Given the description of an element on the screen output the (x, y) to click on. 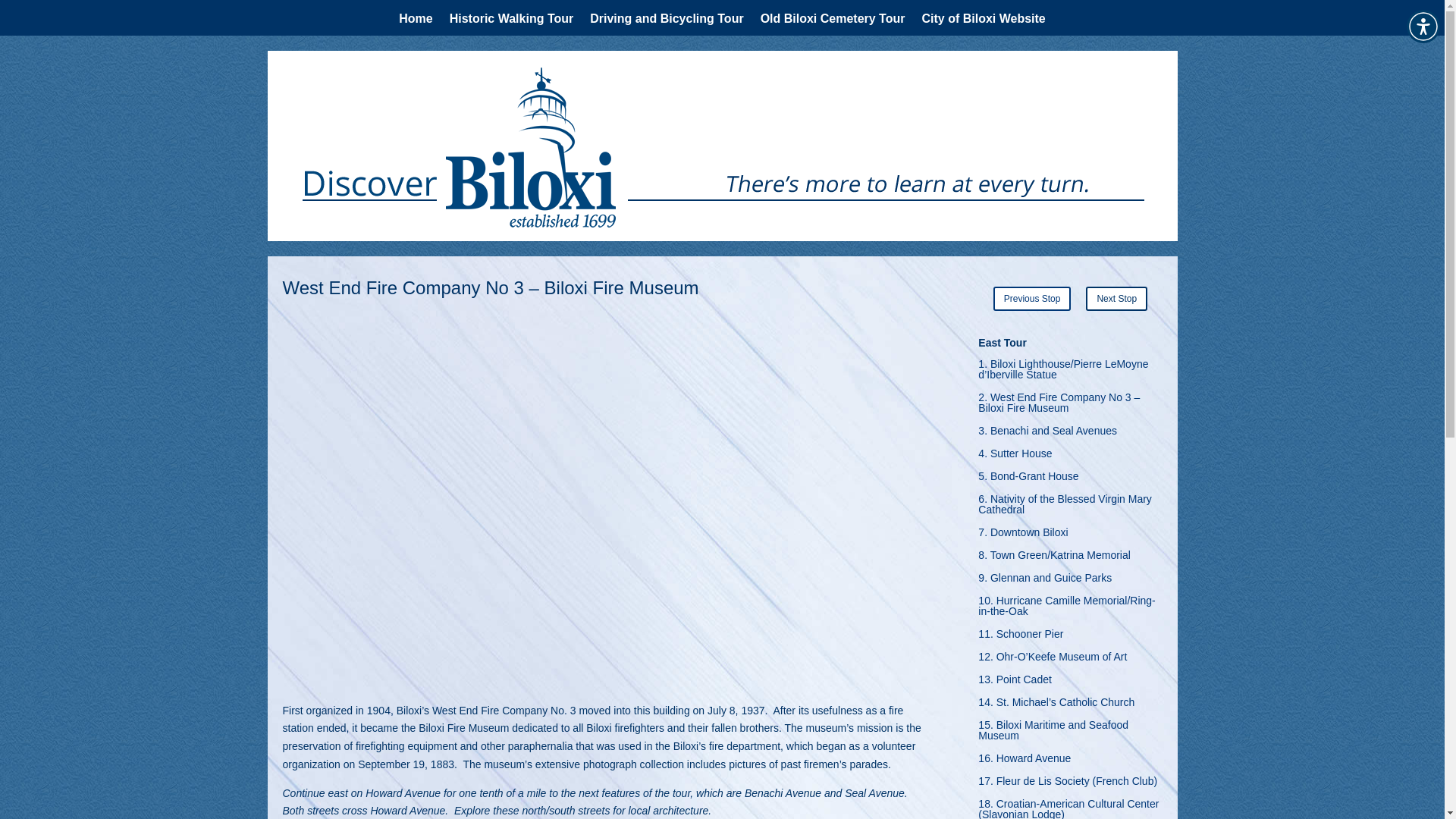
7. Downtown Biloxi (1022, 535)
Next Stop (1116, 298)
11. Schooner Pier (1020, 636)
Home (415, 21)
Accessibility Menu (1422, 26)
6. Nativity of the Blessed Virgin Mary Cathedral (1069, 506)
5. Bond-Grant House (1028, 478)
Logo.fw (494, 147)
16. Howard Avenue (1024, 760)
13. Point Cadet (1014, 682)
9. Glennan and Guice Parks (1045, 580)
15. Biloxi Maritime and Seafood Museum (1069, 732)
4. Sutter House (1014, 456)
City of Biloxi Website (983, 21)
3. Benachi and Seal Avenues (1047, 433)
